Given the description of an element on the screen output the (x, y) to click on. 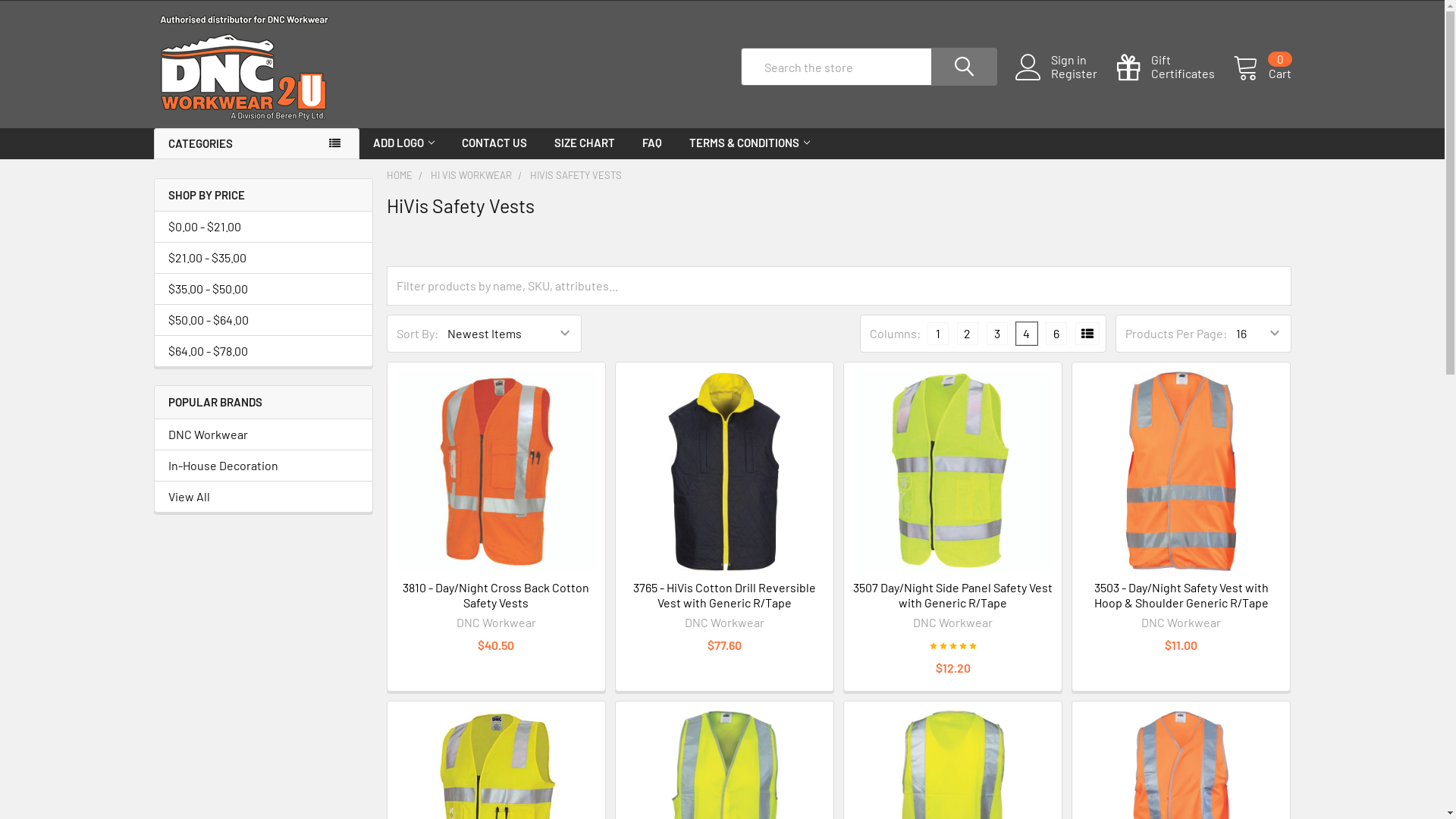
$0.00 - $21.00 Element type: text (263, 226)
HIVIS SAFETY VESTS Element type: text (575, 174)
$64.00 - $78.00 Element type: text (263, 351)
In-House Decoration Element type: text (263, 465)
$50.00 - $64.00 Element type: text (263, 319)
SIZE CHART Element type: text (584, 142)
CATEGORIES Element type: text (255, 143)
CONTACT US Element type: text (494, 142)
TERMS & CONDITIONS Element type: text (749, 142)
HI VIS WORKWEAR Element type: text (470, 174)
ADD LOGO Element type: text (403, 142)
FAQ Element type: text (651, 142)
3507 Day/Night Side Panel Safety Vest with Generic R/Tape Element type: hover (952, 471)
$21.00 - $35.00 Element type: text (263, 257)
3507 Day/Night Side Panel Safety Vest with Generic R/Tape Element type: text (952, 594)
Register Element type: text (1083, 73)
3810 - Day/Night Cross Back Cotton Safety Vests Element type: hover (496, 471)
3810 - Day/Night Cross Back Cotton Safety Vests Element type: text (495, 594)
Gift
Certificates Element type: text (1173, 67)
Sign in Element type: text (1083, 59)
DNC Workwear Element type: text (263, 434)
Dncworkwear2u Element type: hover (243, 66)
HOME Element type: text (399, 174)
Cart
0 Element type: text (1262, 66)
$35.00 - $50.00 Element type: text (263, 288)
Bulk Order Element type: hover (1087, 332)
Search Element type: text (951, 66)
View All Element type: text (263, 496)
